Given the description of an element on the screen output the (x, y) to click on. 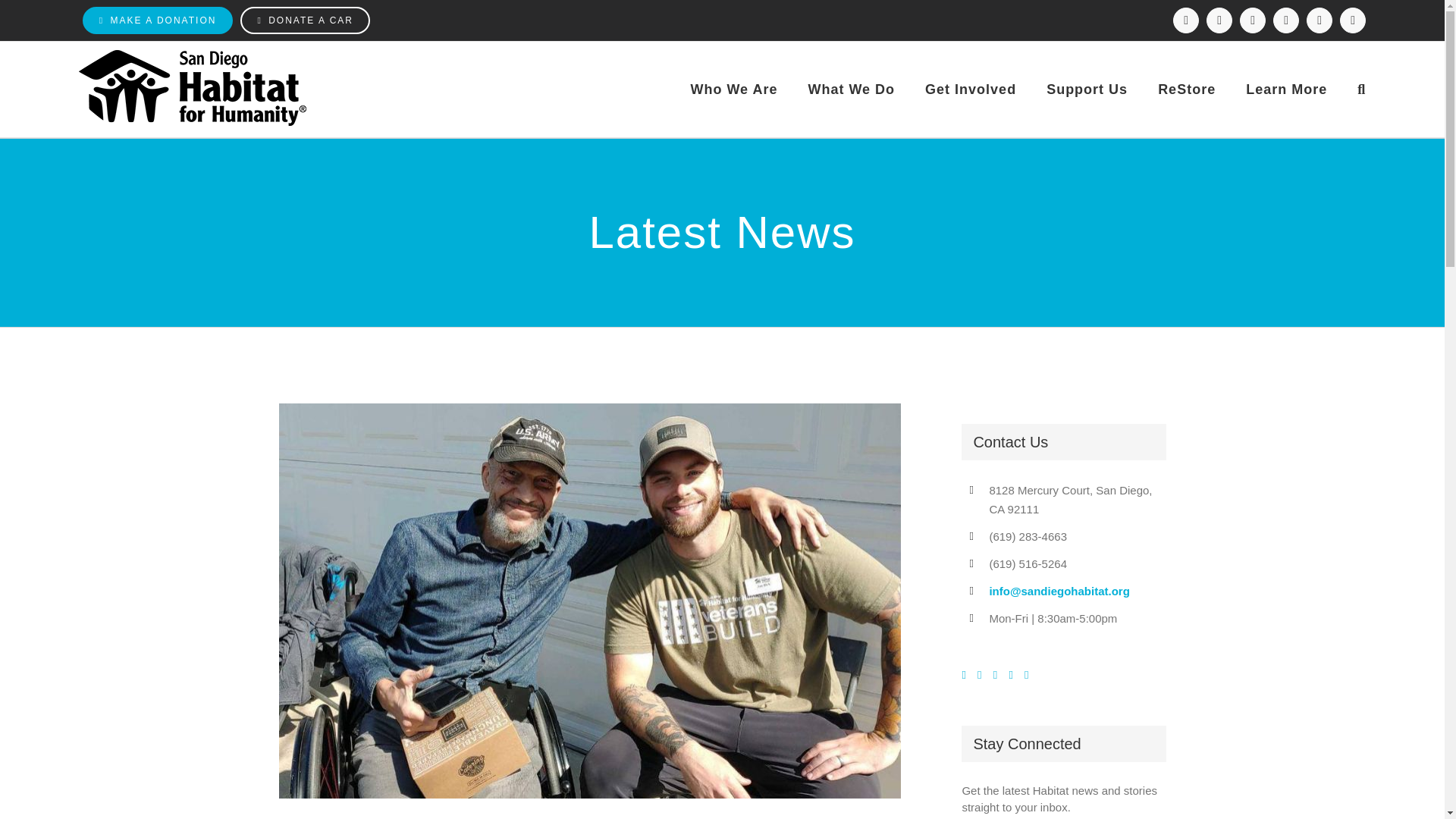
LinkedIn (1285, 20)
Facebook (1185, 20)
Instagram (1219, 20)
Who We Are (733, 89)
What We Do (851, 89)
X (1252, 20)
Email (1352, 20)
X (1252, 20)
LinkedIn (1285, 20)
Get Involved (970, 89)
